Given the description of an element on the screen output the (x, y) to click on. 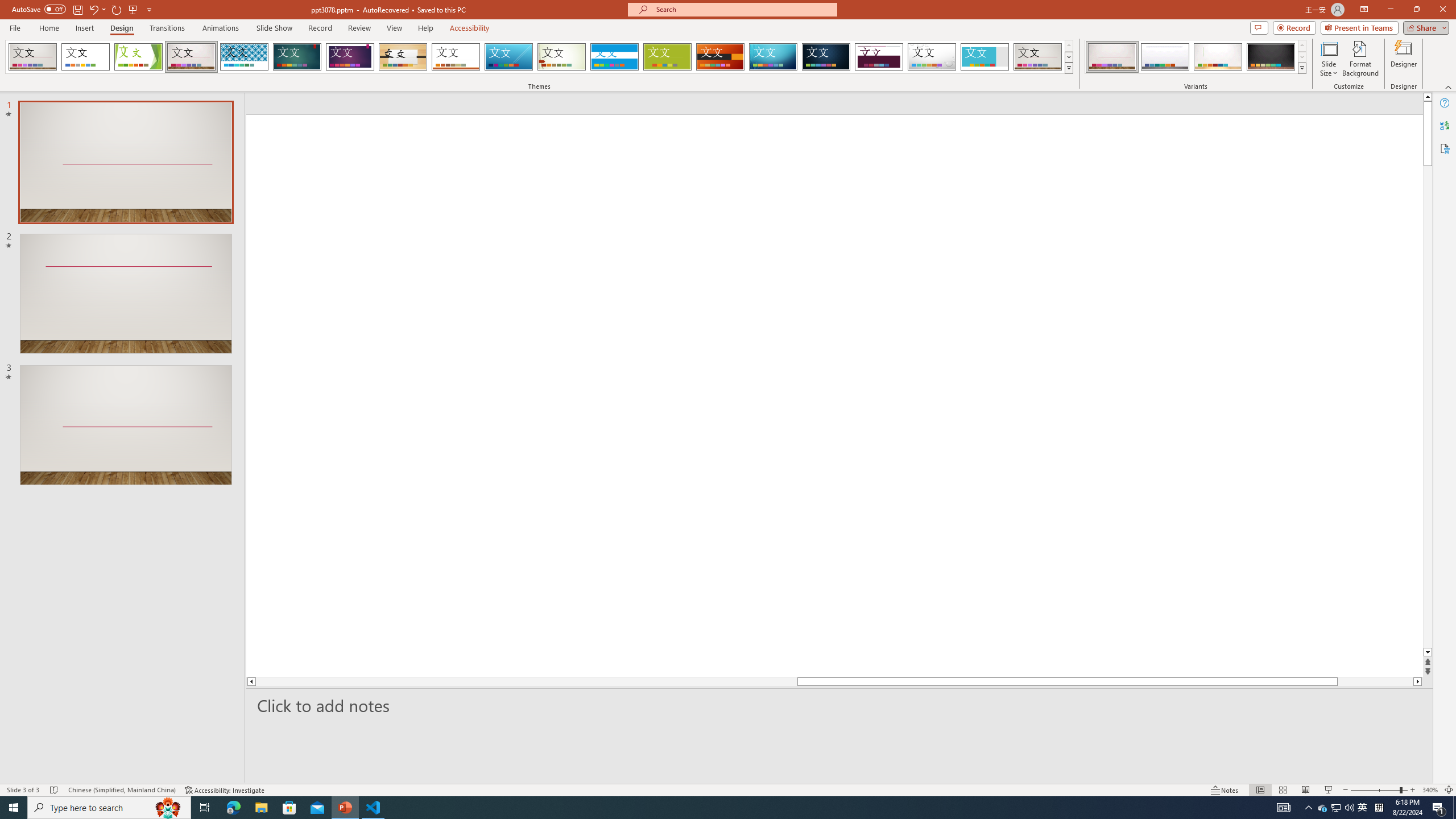
Gallery Variant 3 (1217, 56)
AutomationID: ThemeVariantsGallery (1195, 56)
Basis (667, 56)
Ion Boardroom (350, 56)
Gallery Variant 1 (1112, 56)
Wisp (561, 56)
Gallery Variant 2 (1164, 56)
